Given the description of an element on the screen output the (x, y) to click on. 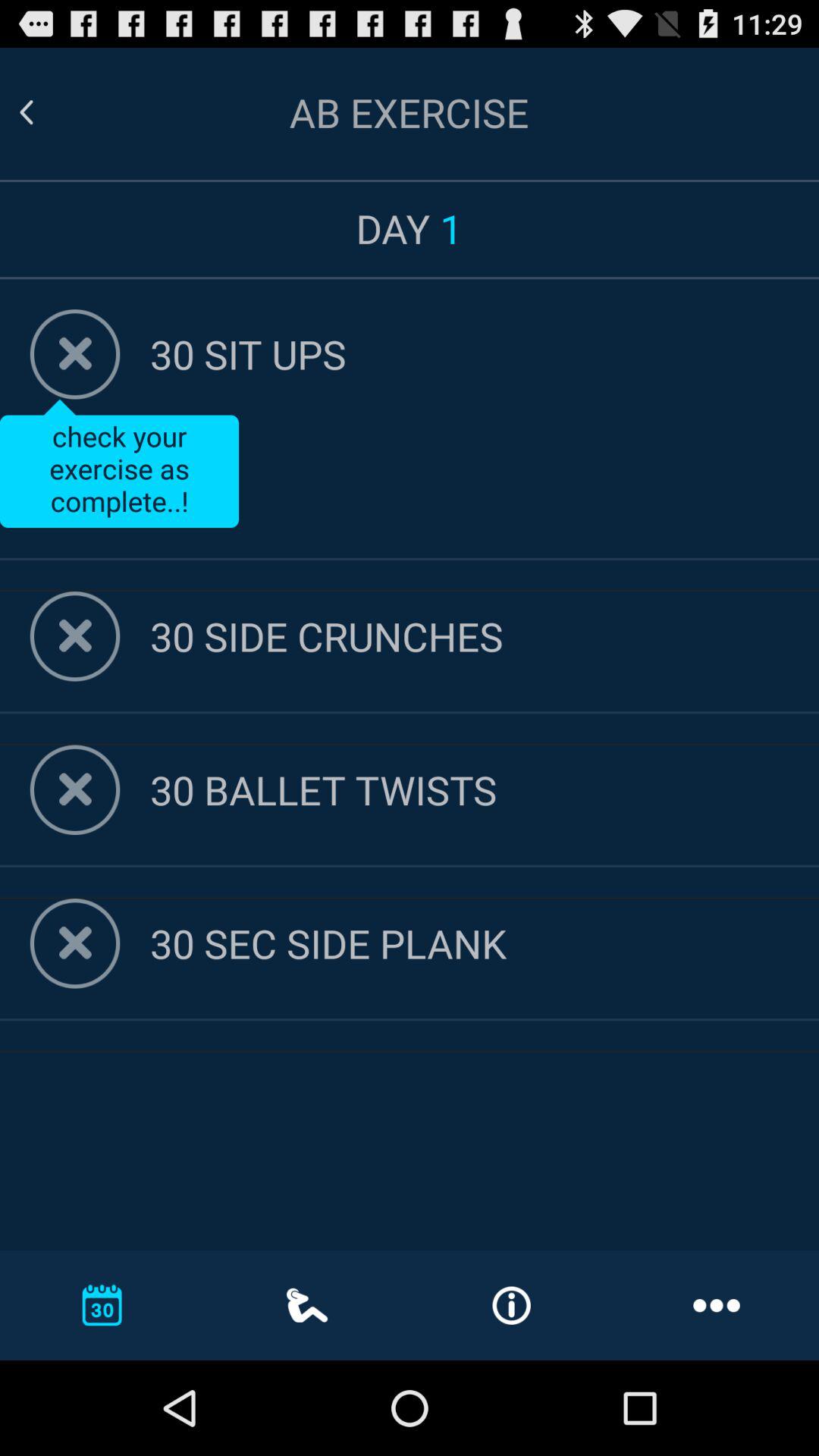
cancel this item (75, 789)
